Given the description of an element on the screen output the (x, y) to click on. 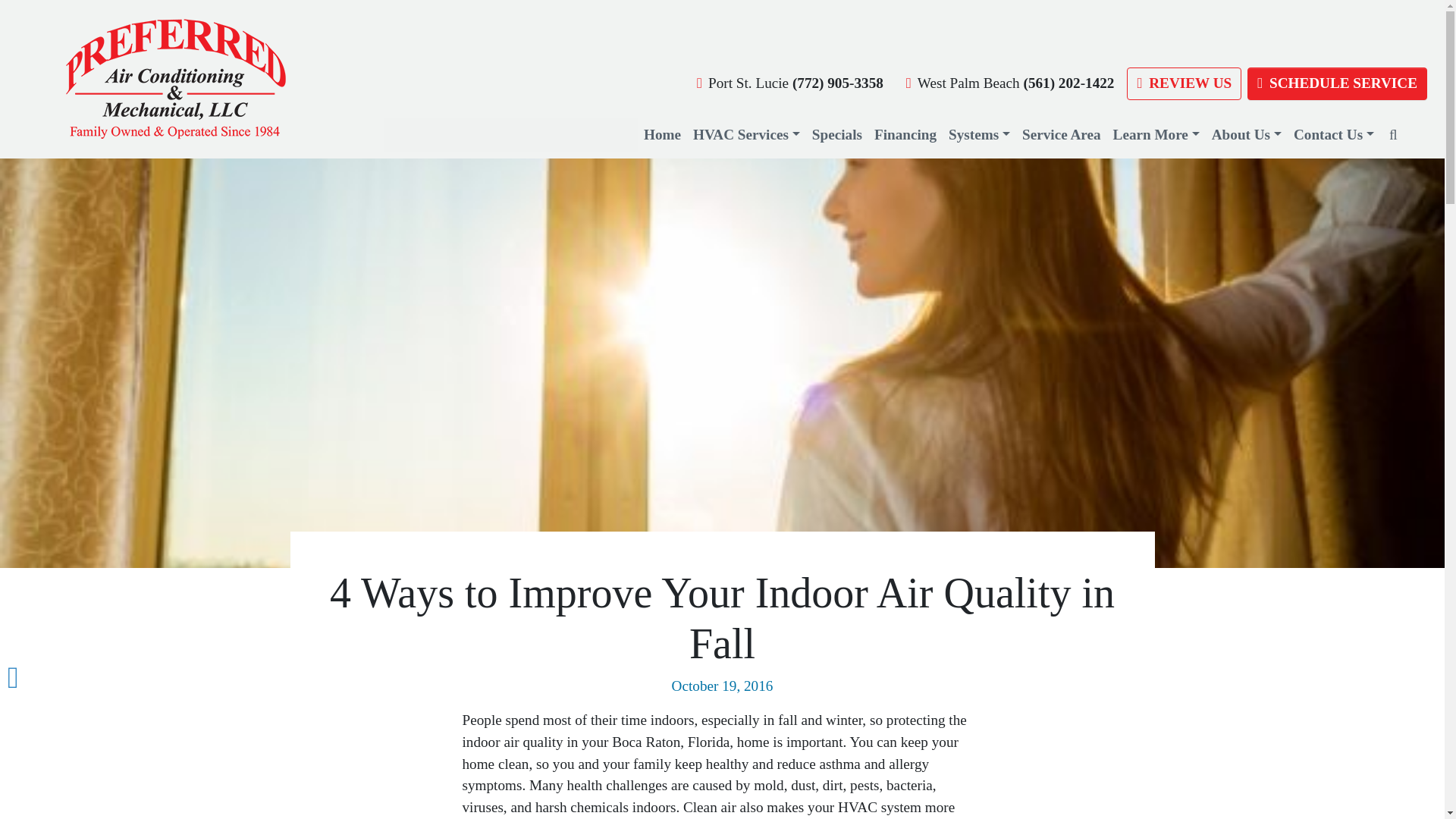
Systems (979, 134)
About Us (1246, 134)
SCHEDULE SERVICE (1336, 83)
REVIEW US (1183, 83)
Financing (904, 134)
Home (662, 134)
Service Area (1061, 134)
Learn More (1155, 134)
Specials (836, 134)
HVAC Services (746, 134)
